Given the description of an element on the screen output the (x, y) to click on. 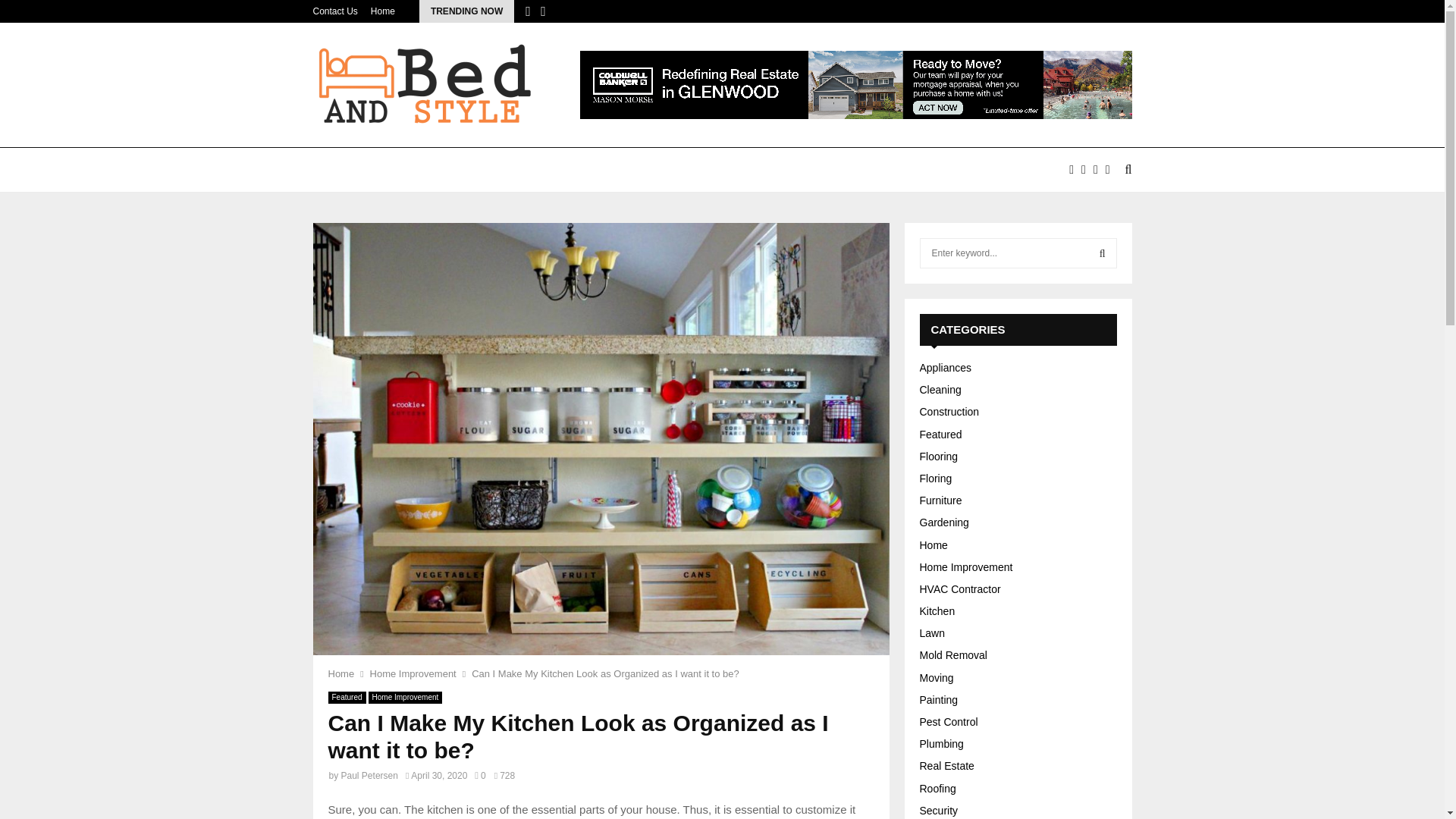
FURNITURE (811, 169)
HOME IMPROVEMENT (441, 169)
Home (340, 673)
Can I Make My Kitchen Look as Organized as I want it to be? (605, 673)
Home Improvement (405, 697)
0 (479, 775)
Home Improvement (413, 673)
FLOORING (650, 169)
Featured (346, 697)
Paul Petersen (368, 775)
